Given the description of an element on the screen output the (x, y) to click on. 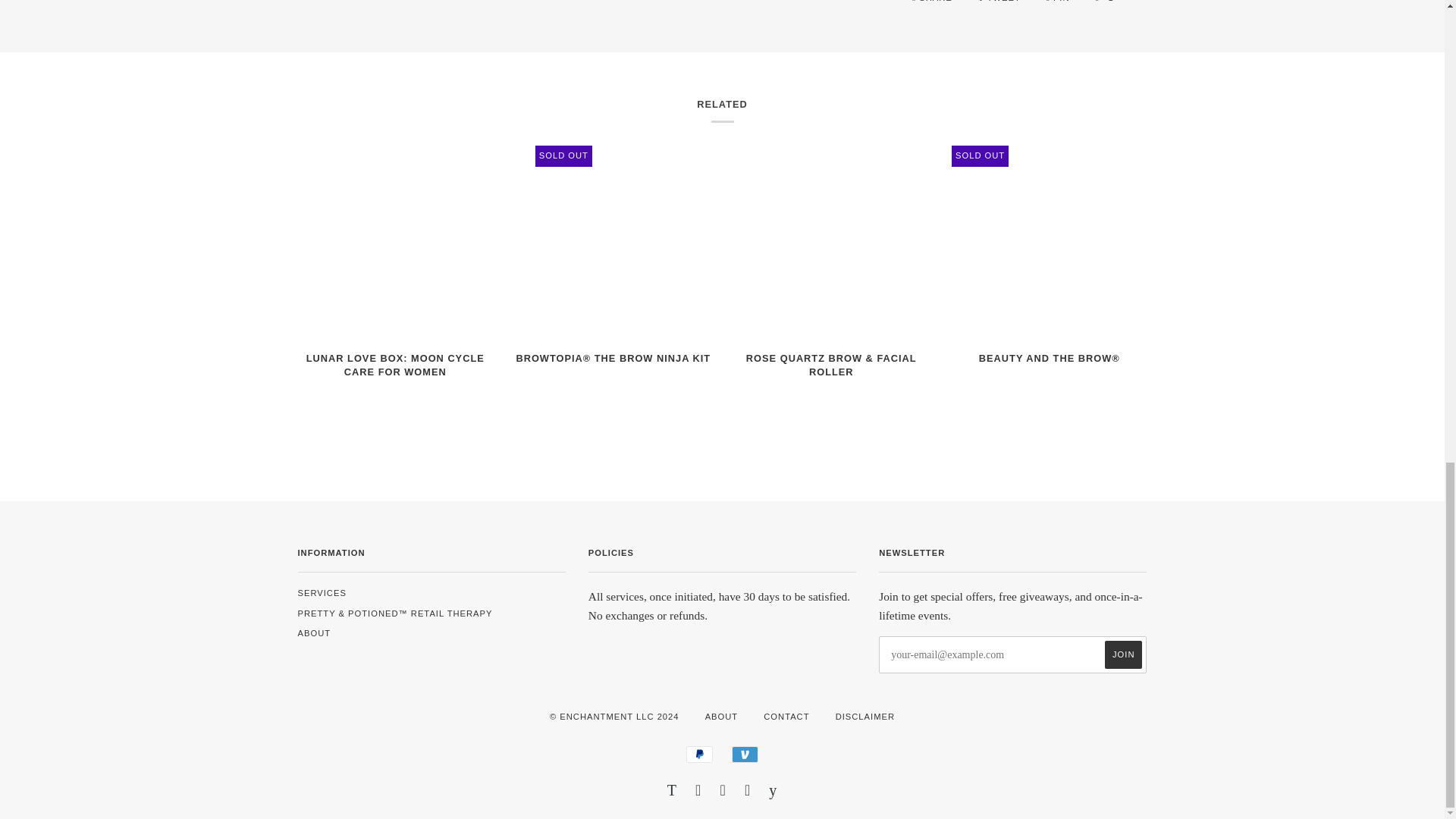
Enchantment LLC on Youtube (772, 791)
VENMO (745, 754)
Enchantment LLC on Twitter (671, 791)
Join (1123, 654)
PAYPAL (699, 754)
